Given the description of an element on the screen output the (x, y) to click on. 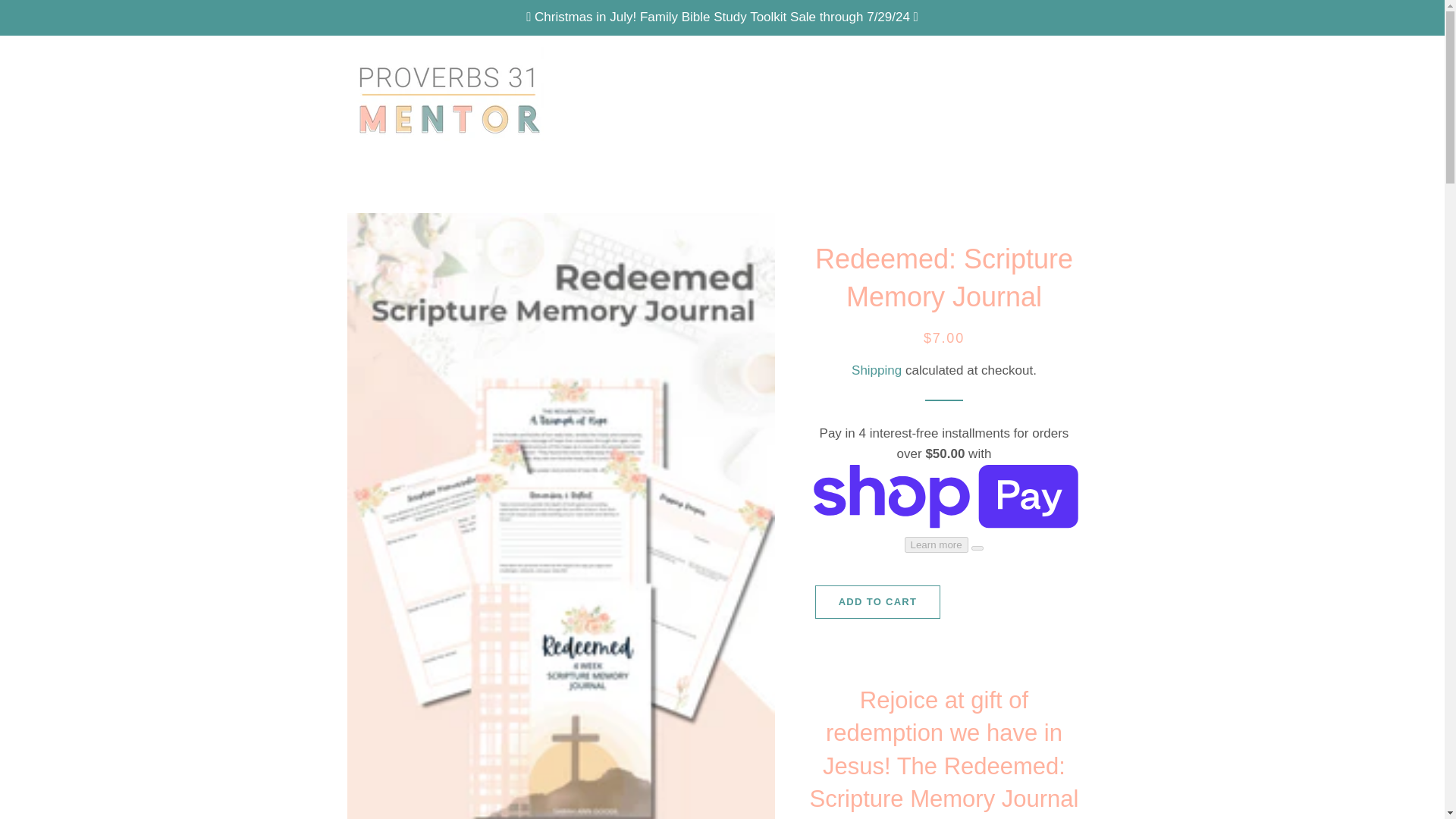
ADD TO CART (877, 602)
Shipping (876, 370)
